Given the description of an element on the screen output the (x, y) to click on. 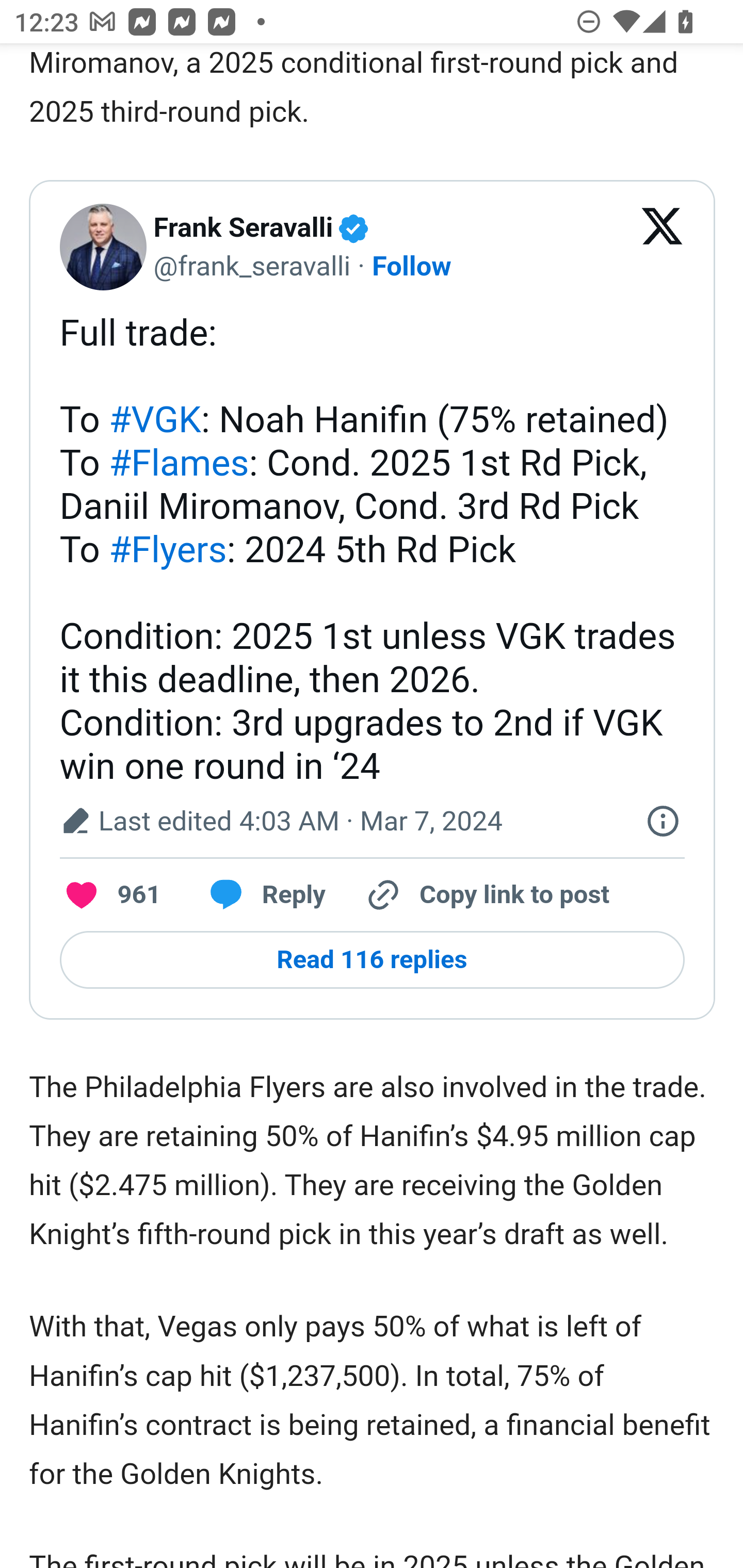
View on X (662, 248)
@frank_seravalli (251, 266)
Follow (412, 266)
#VGK (155, 420)
#Flames (178, 464)
#Flyers (167, 550)
X Ads info and privacy (662, 821)
Like. This post has 961 likes 961 (109, 896)
Reply to this post on X Reply (260, 896)
Copy link to post (485, 896)
Read 116 replies (371, 960)
